Given the description of an element on the screen output the (x, y) to click on. 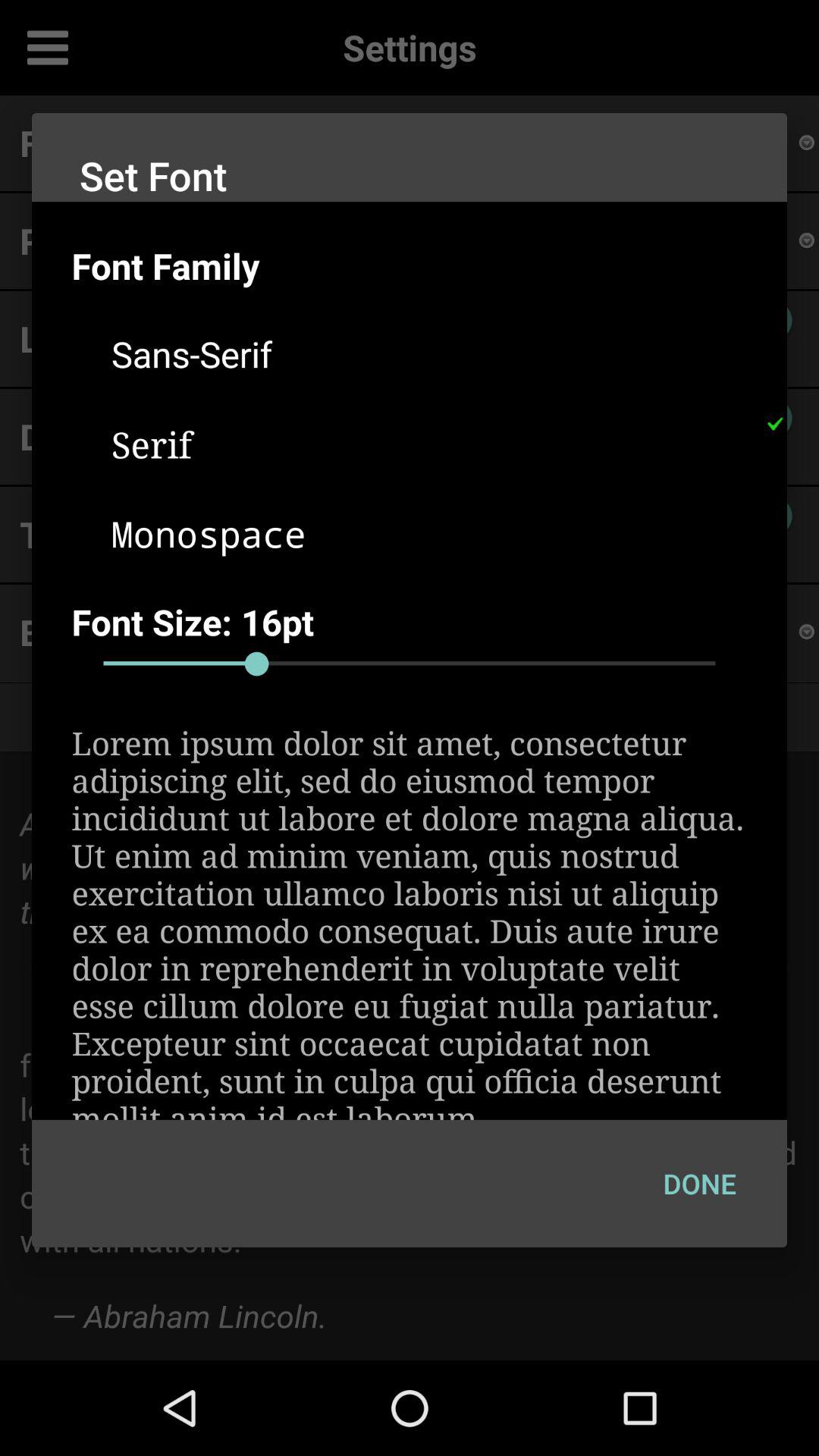
increase or decrease font size (409, 663)
